Given the description of an element on the screen output the (x, y) to click on. 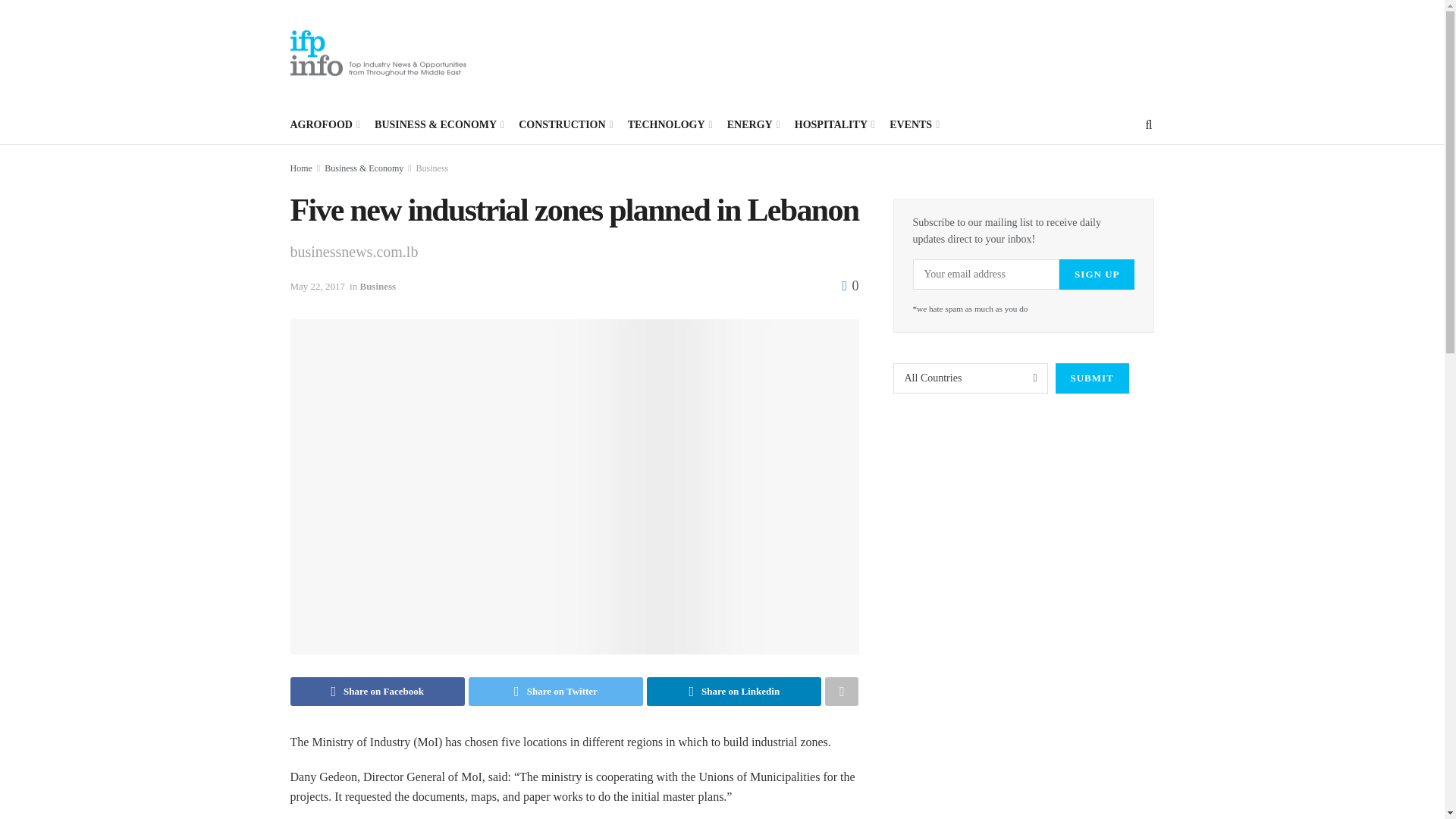
Submit (1092, 378)
AGROFOOD (323, 124)
Sign up (1096, 274)
